Given the description of an element on the screen output the (x, y) to click on. 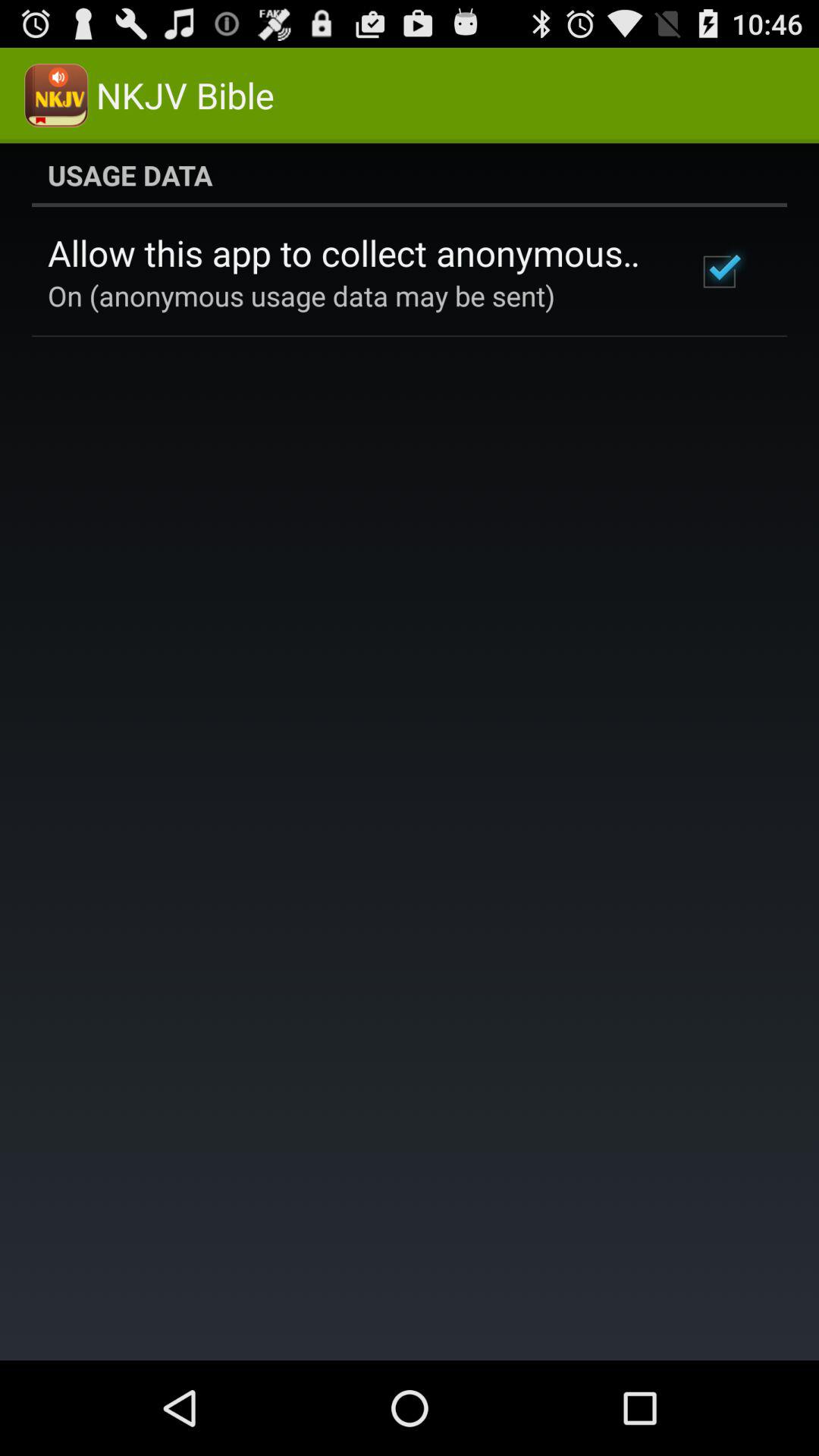
swipe to allow this app (351, 252)
